Given the description of an element on the screen output the (x, y) to click on. 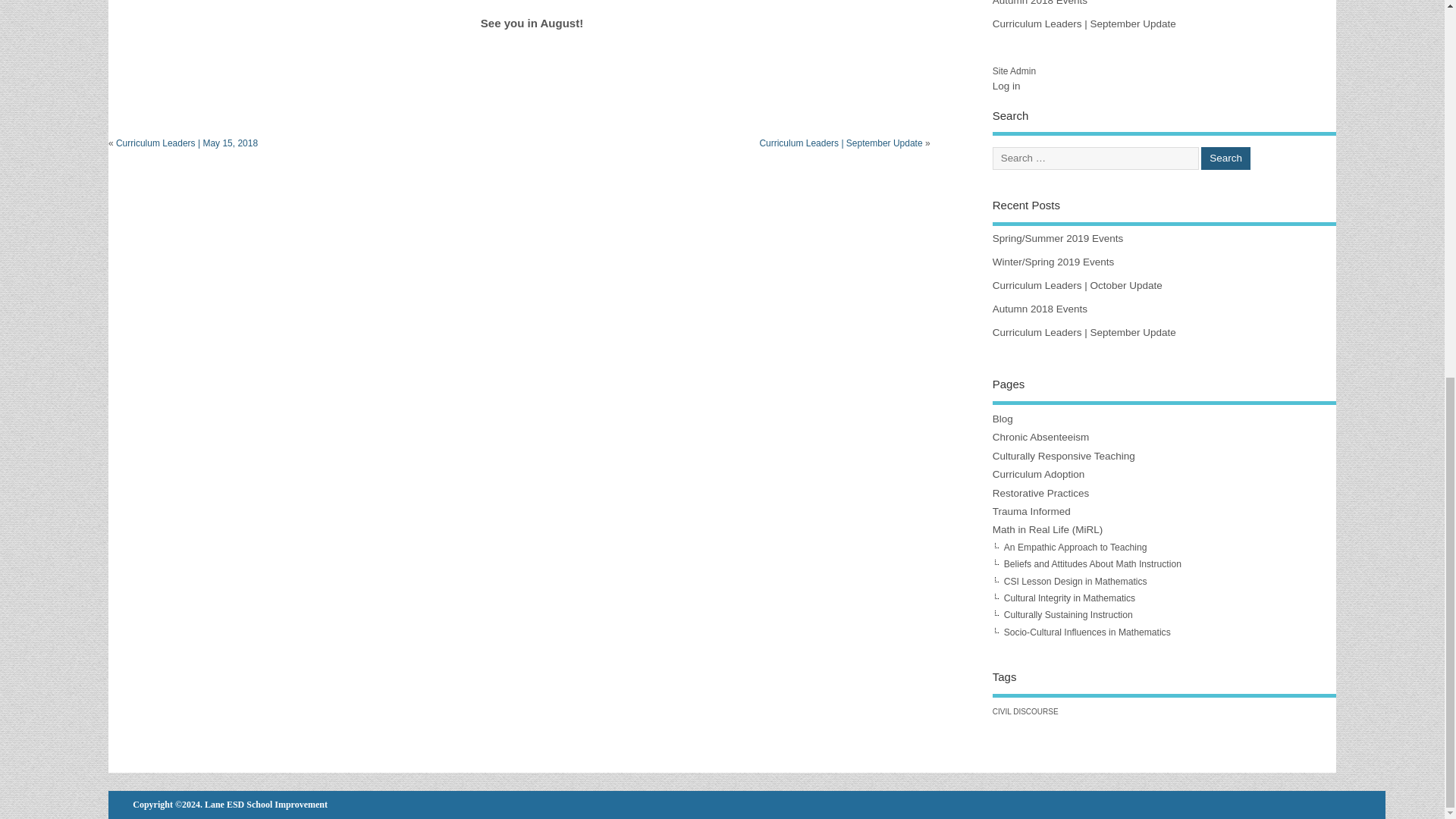
Search (1225, 158)
Search (1225, 158)
Search for: (1095, 158)
